Given the description of an element on the screen output the (x, y) to click on. 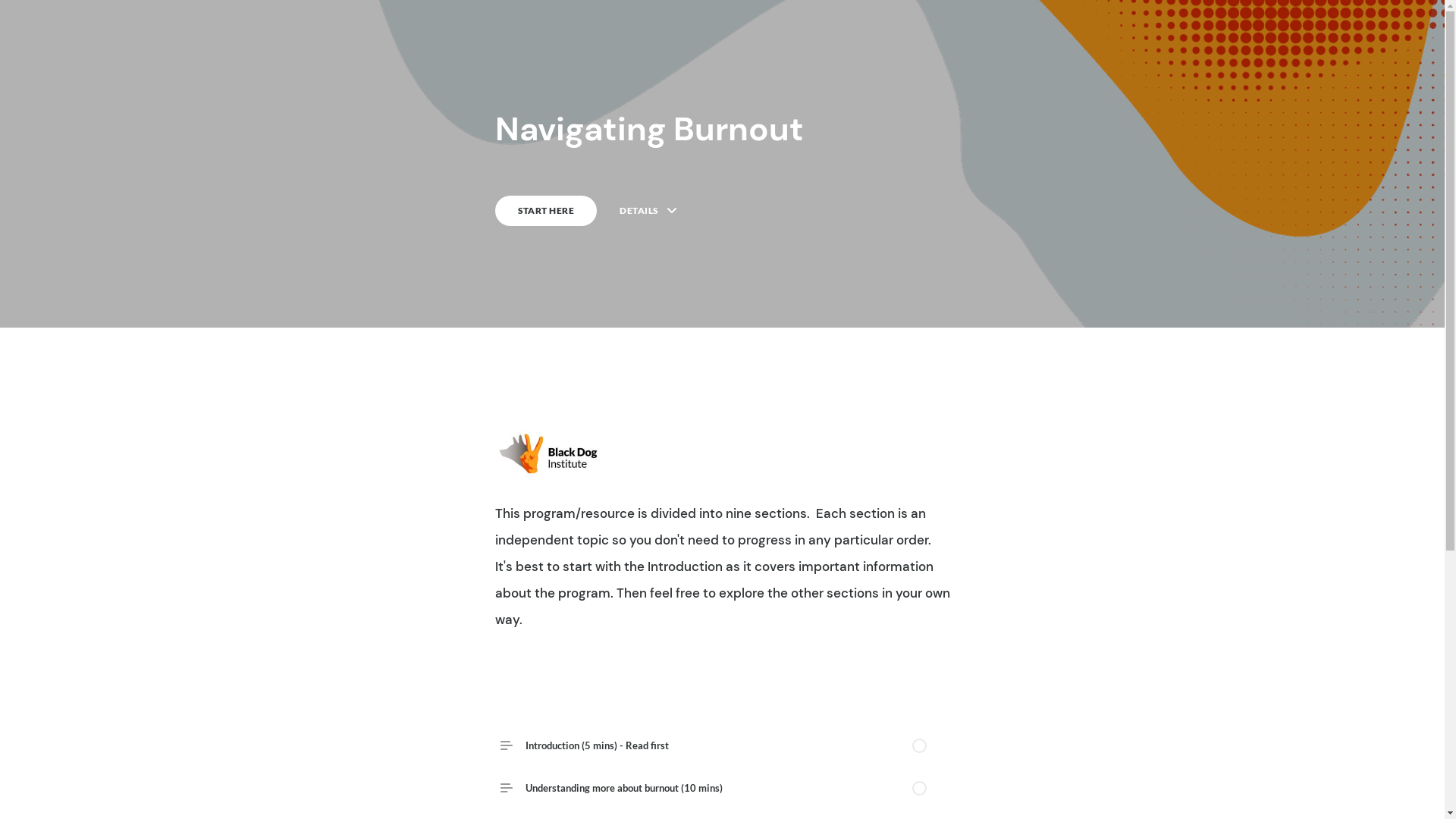
START HERE Element type: text (545, 210)
Understanding more about burnout (10 mins) Element type: text (721, 787)
Introduction (5 mins) - Read first Element type: text (721, 745)
DETAILSMORECARET POINTING DOWN Element type: text (647, 209)
